Given the description of an element on the screen output the (x, y) to click on. 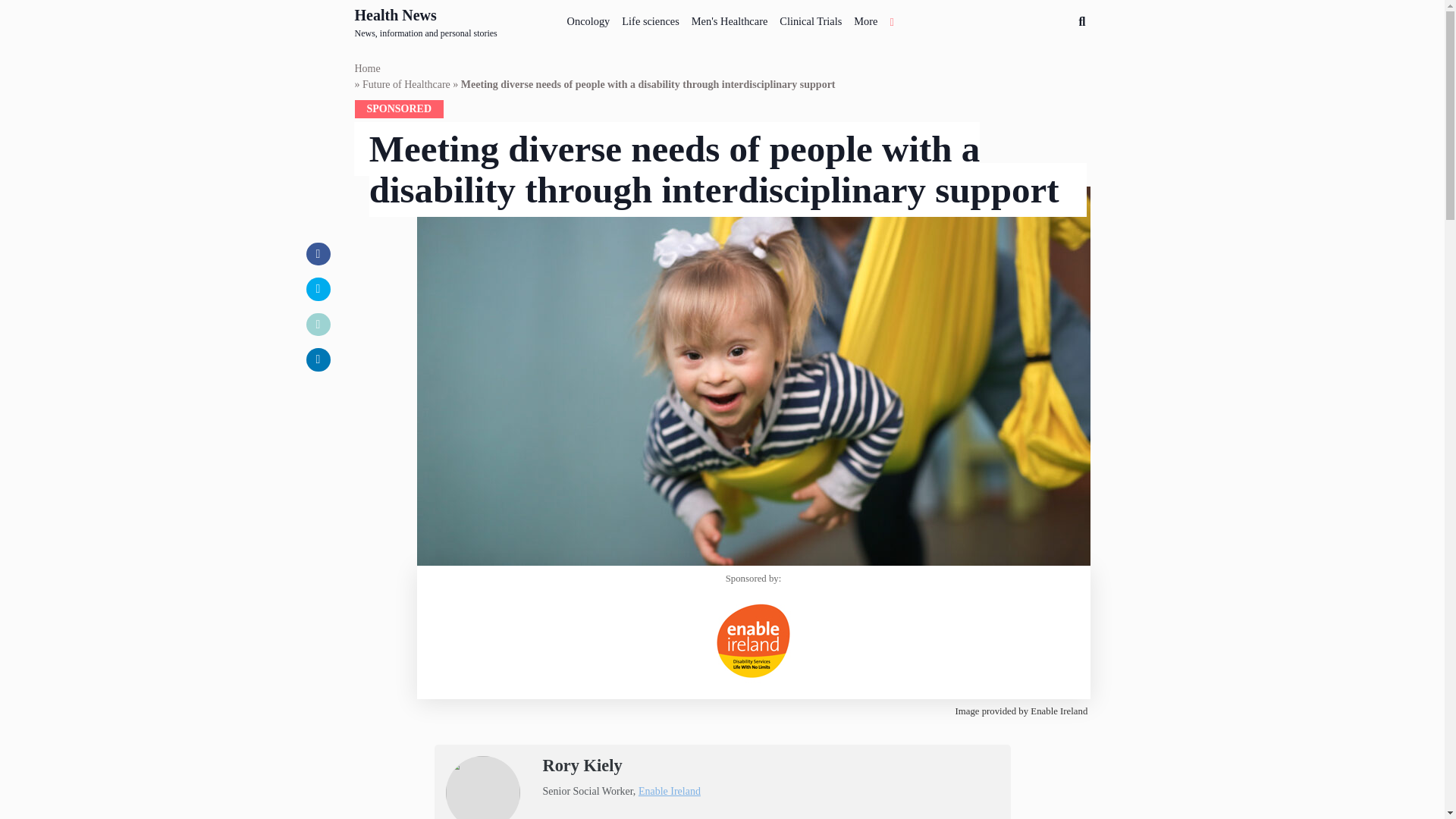
More (865, 18)
Life sciences (426, 22)
Future of Healthcare (650, 18)
Clinical Trials (405, 84)
Enable Ireland (810, 18)
Oncology (669, 790)
Home (587, 18)
Men's Healthcare (367, 68)
